Given the description of an element on the screen output the (x, y) to click on. 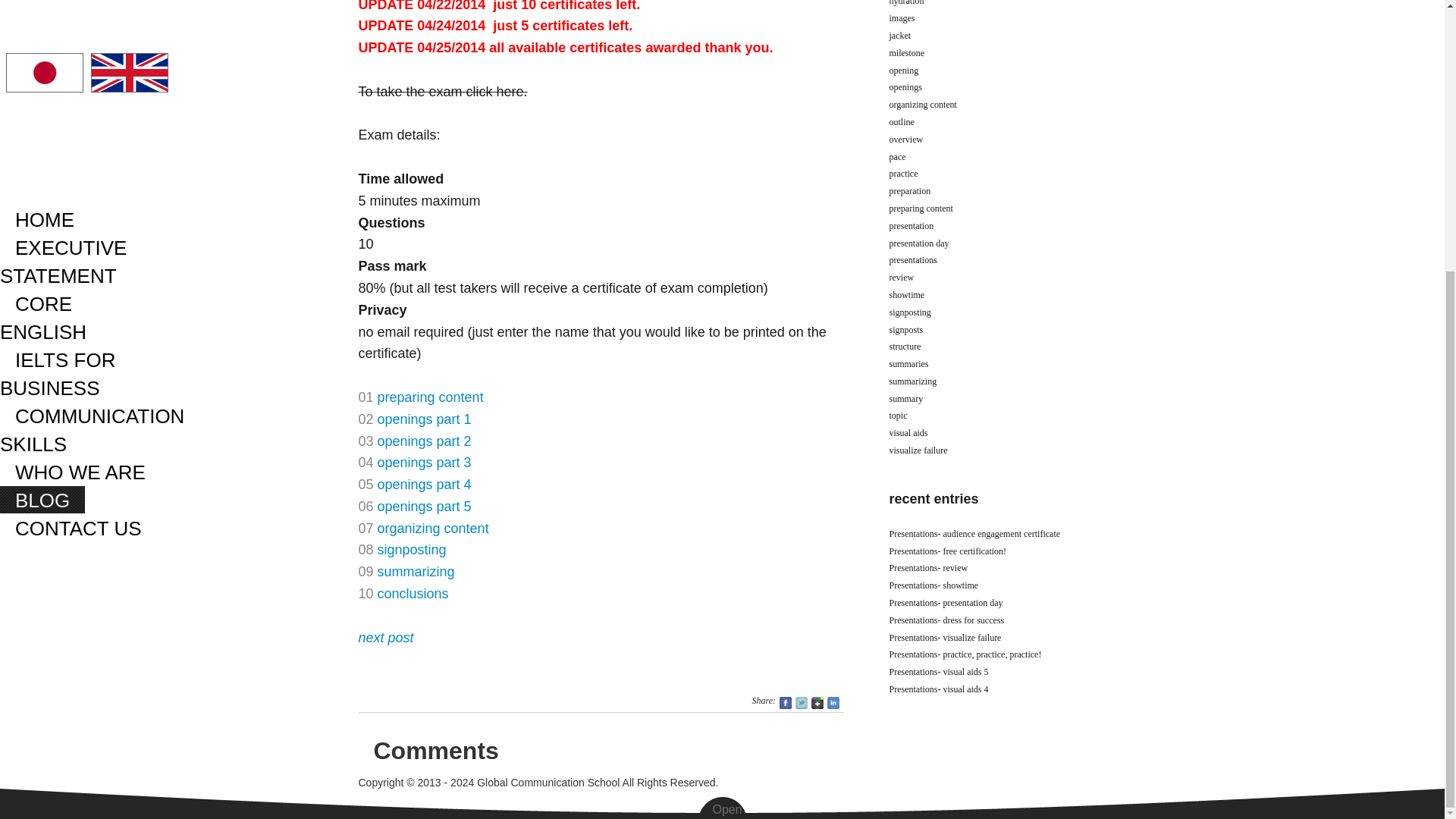
06 openings part 5 (414, 506)
CONTACT US (78, 130)
07 organizing content (422, 528)
10 conclusions (403, 593)
08 signposting (401, 549)
next post (385, 637)
IELTS FOR BUSINESS (57, 2)
BLOG (42, 102)
Facebook (785, 702)
05 openings part 4 (414, 484)
Google Plus (817, 702)
02 openings part 1 (414, 418)
04 openings part 3 (414, 462)
Linkedin (833, 702)
09 summarizing (406, 571)
